Given the description of an element on the screen output the (x, y) to click on. 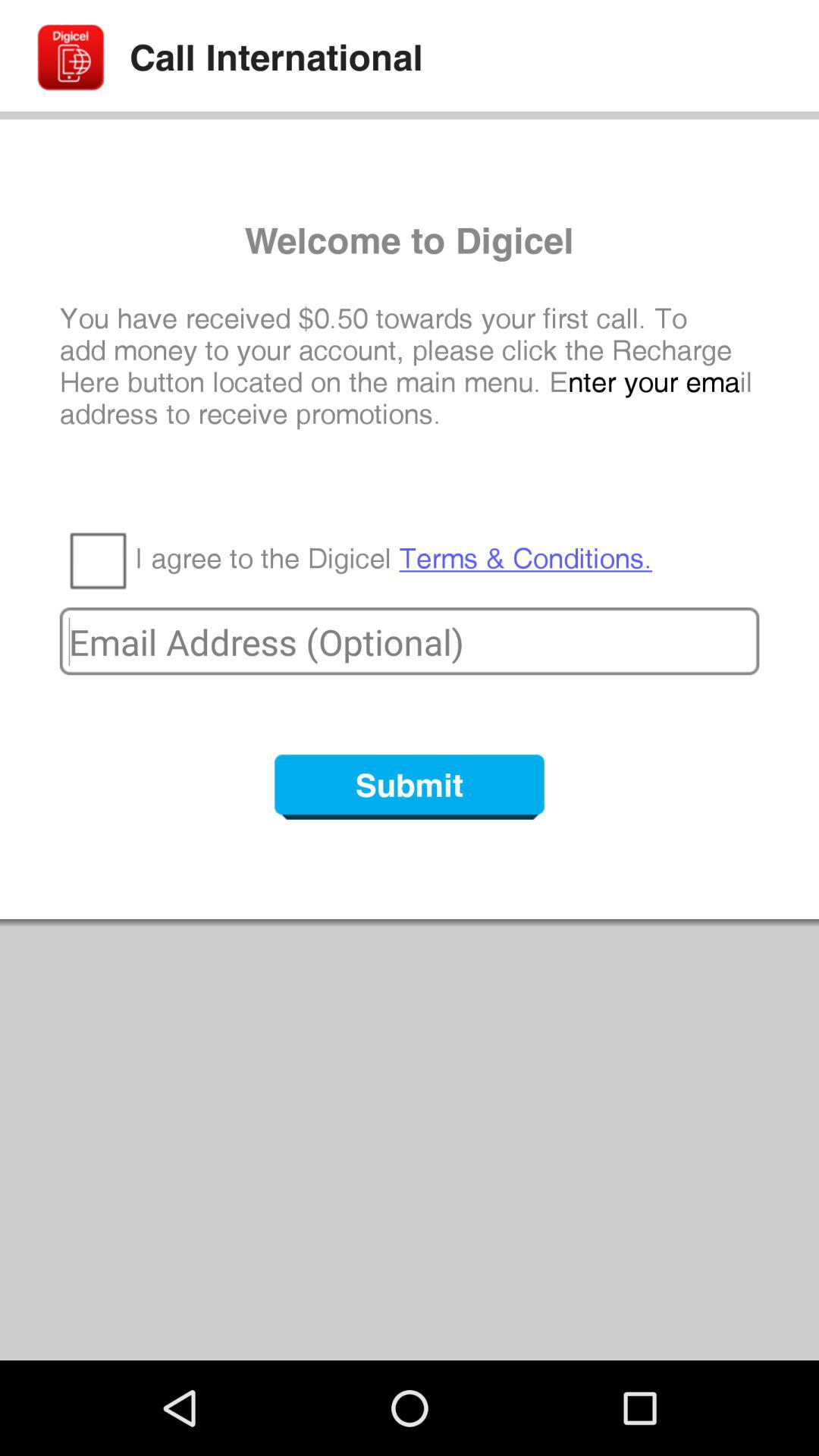
flip until the submit icon (409, 786)
